Given the description of an element on the screen output the (x, y) to click on. 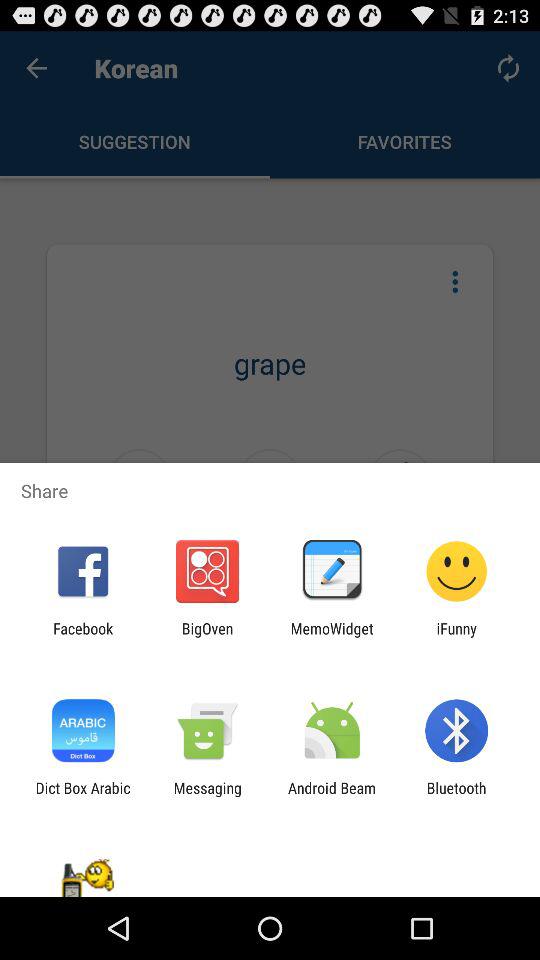
select item next to the bigoven (83, 637)
